Given the description of an element on the screen output the (x, y) to click on. 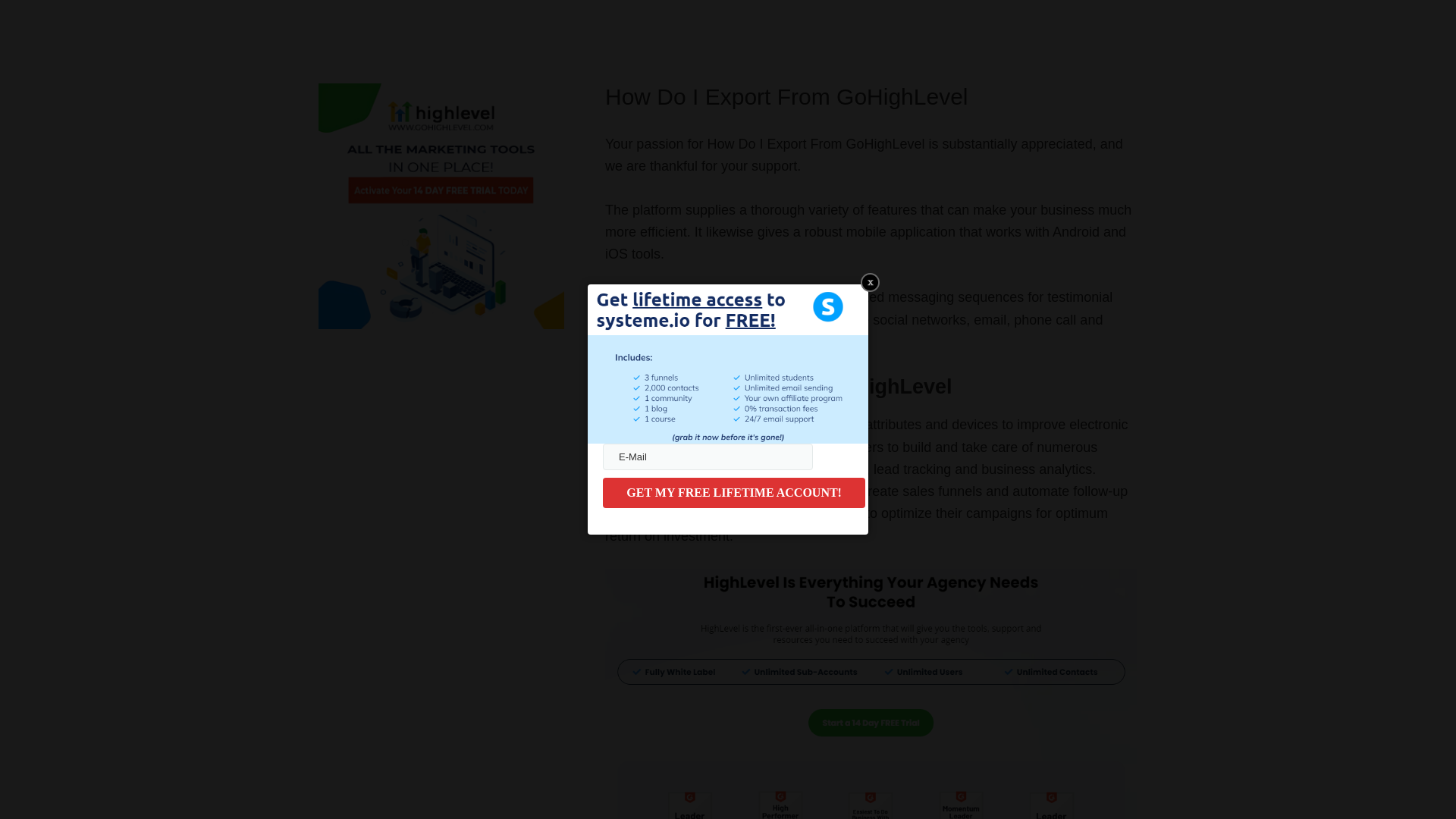
GET MY FREE LIFETIME ACCOUNT! (733, 492)
GET MY FREE LIFETIME ACCOUNT! (733, 492)
